Given the description of an element on the screen output the (x, y) to click on. 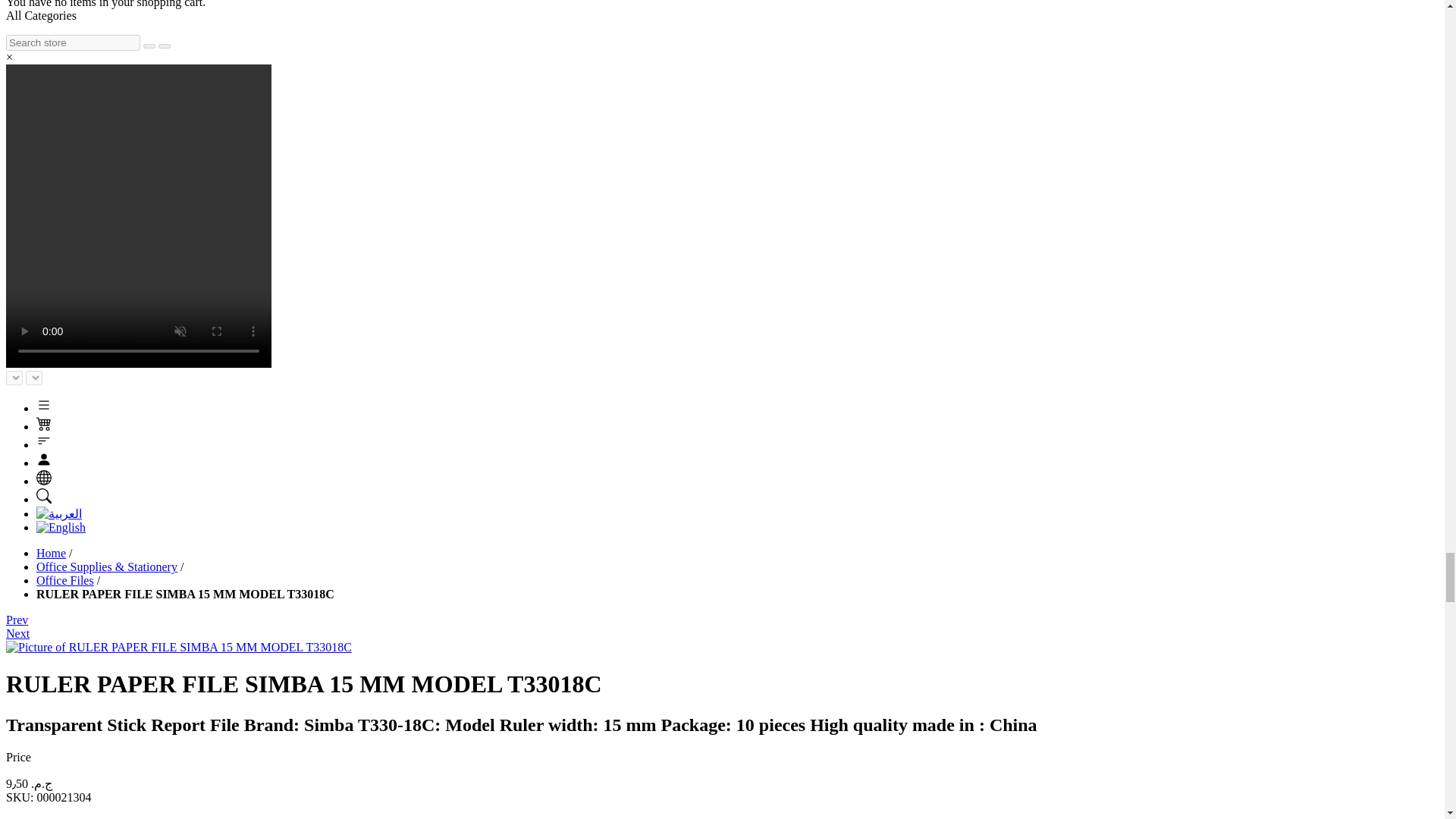
change language (43, 477)
Filters (43, 441)
Menu (43, 404)
Personal menu (43, 459)
Search (43, 495)
Shopping cart (43, 422)
